Given the description of an element on the screen output the (x, y) to click on. 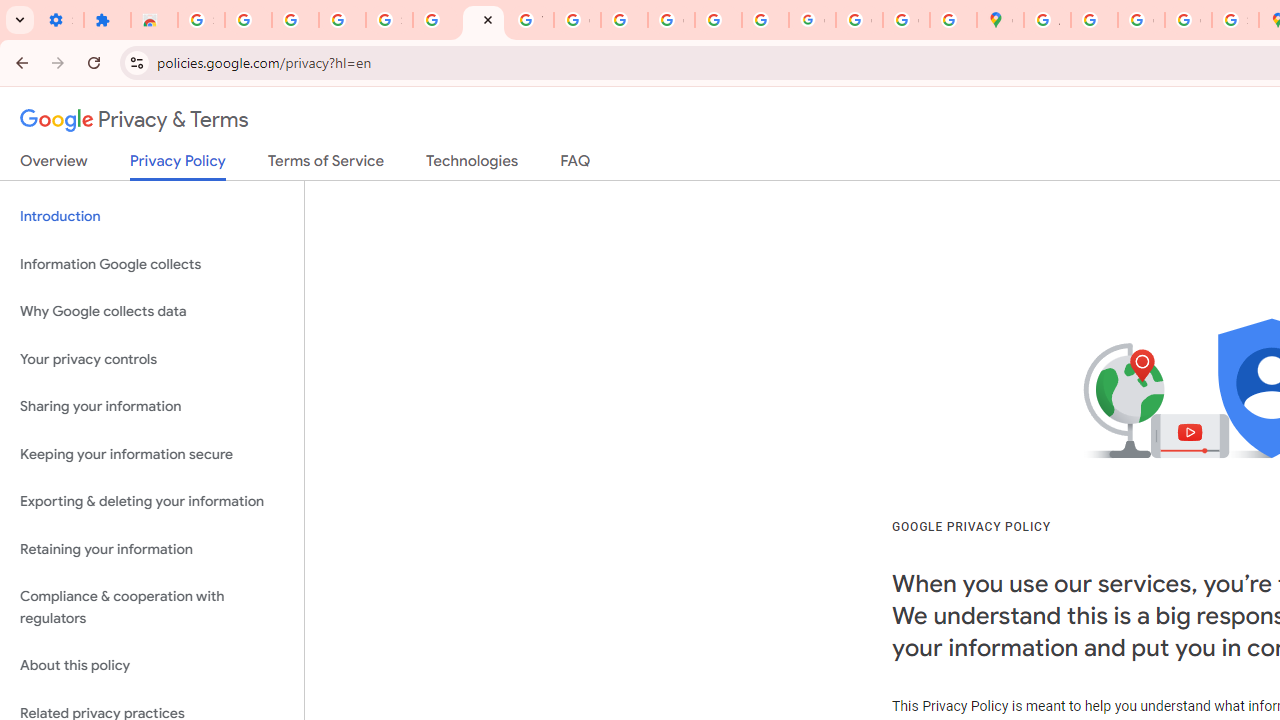
Settings - On startup (60, 20)
Google Maps (999, 20)
Create your Google Account (1140, 20)
Compliance & cooperation with regulators (152, 607)
Safety in Our Products - Google Safety Center (1235, 20)
Exporting & deleting your information (152, 502)
